Given the description of an element on the screen output the (x, y) to click on. 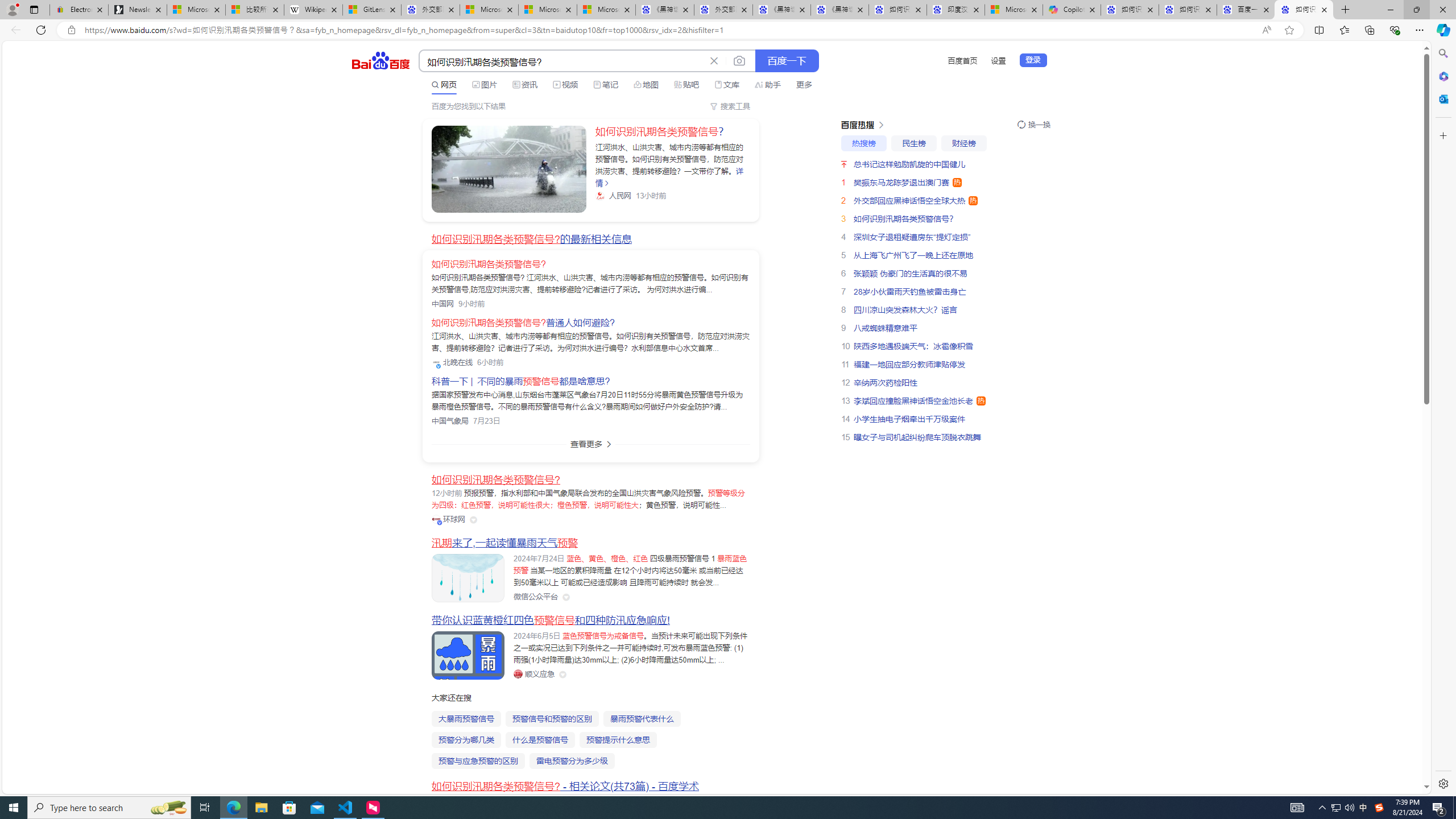
AutomationID: kw (562, 61)
